Given the description of an element on the screen output the (x, y) to click on. 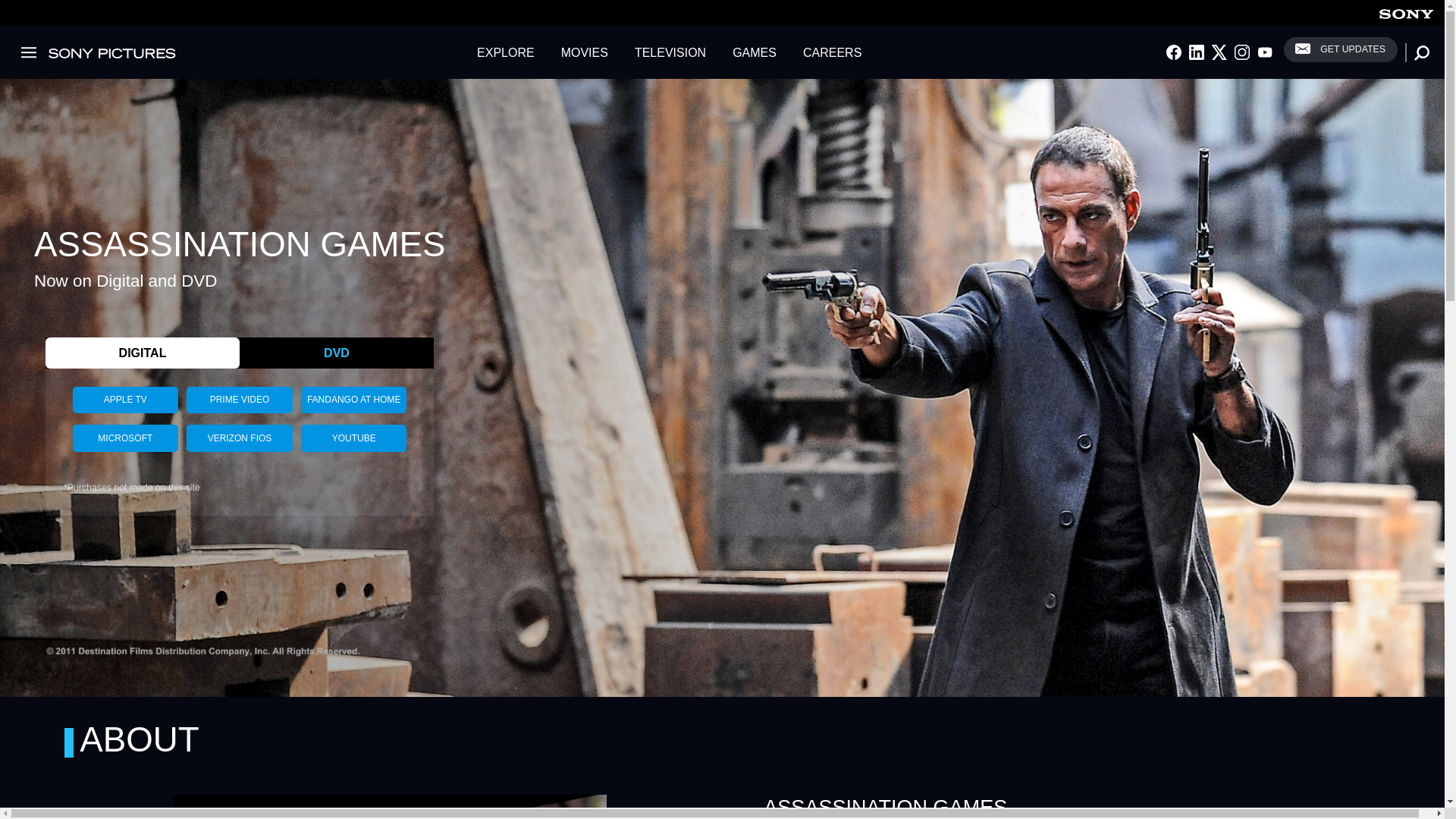
FACEBOOK (1173, 51)
GAMES (753, 51)
TWITTER (1219, 51)
DVD (336, 352)
GET UPDATES (1340, 49)
Search (7, 7)
YOUTUBE (1264, 51)
Sony (1405, 11)
PRIME VIDEO (239, 399)
LINKEDIN (1196, 51)
